Given the description of an element on the screen output the (x, y) to click on. 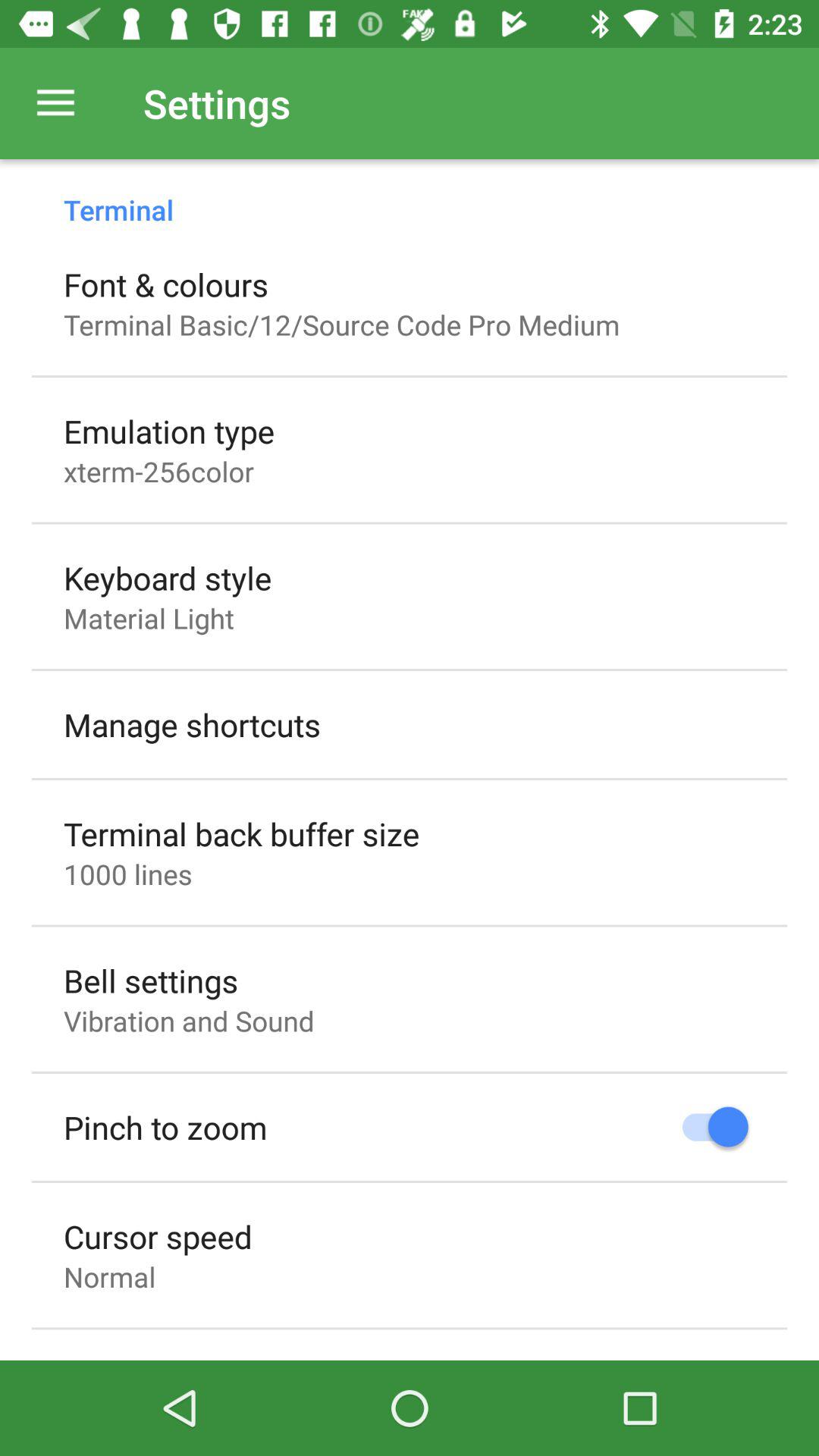
tap the item above xterm-256color icon (168, 430)
